Given the description of an element on the screen output the (x, y) to click on. 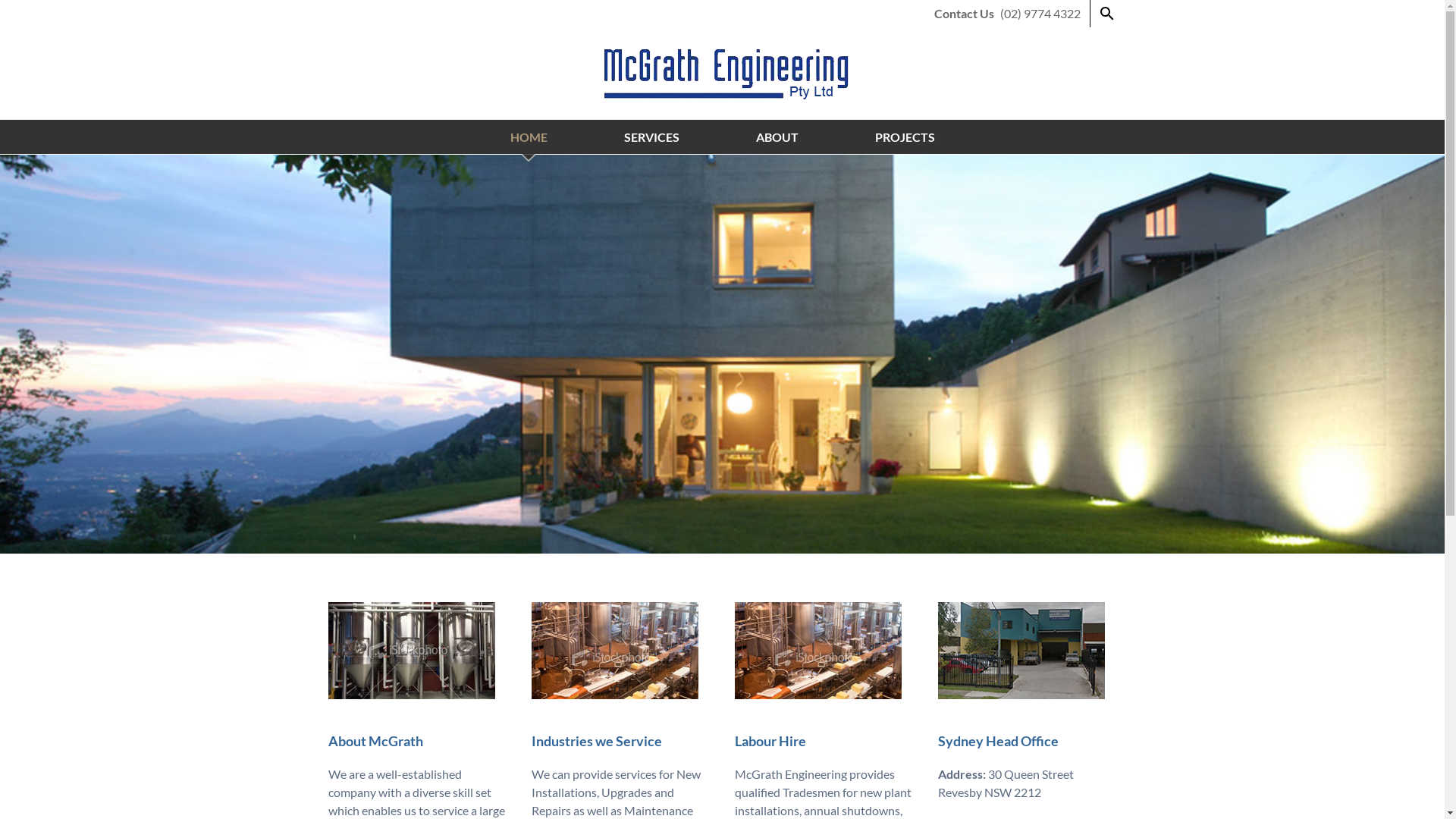
Industries we Service Element type: text (595, 740)
HOME Element type: text (527, 136)
PROJECTS Element type: text (904, 136)
SERVICES Element type: text (650, 136)
About McGrath Element type: text (374, 740)
abour Hire Element type: text (773, 740)
Sydney Head Office Element type: text (997, 740)
(02) 9774 4322 Element type: text (1039, 13)
L Element type: text (737, 740)
ABOUT Element type: text (776, 136)
Contact Us Element type: text (964, 13)
